Given the description of an element on the screen output the (x, y) to click on. 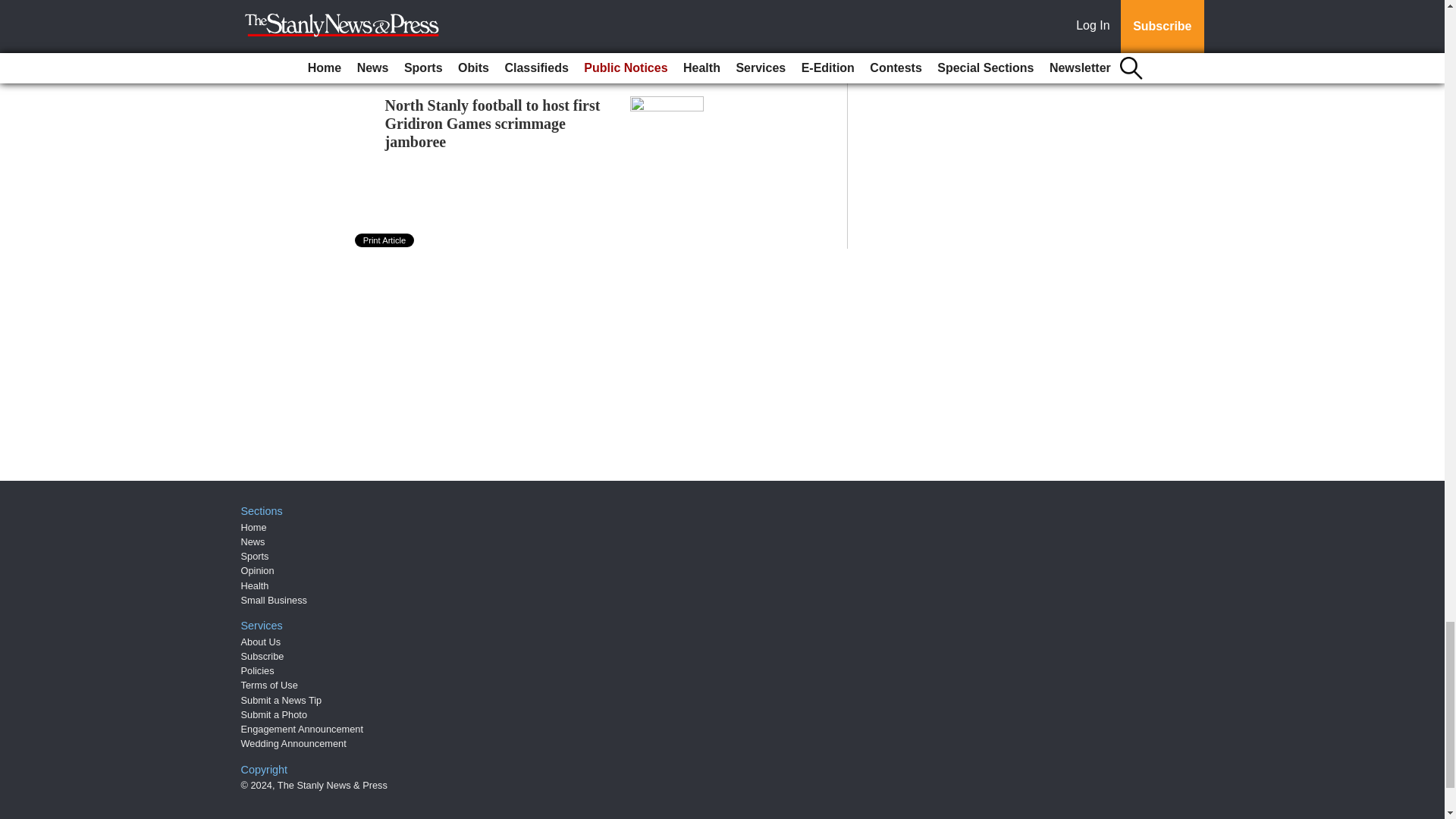
Dove season opens Sept. 2 (469, 53)
Print Article (384, 240)
Wildlife Commission announces recreational flounder season (581, 5)
Wildlife Commission announces recreational flounder season (581, 5)
Dove season opens Sept. 2 (469, 53)
